Given the description of an element on the screen output the (x, y) to click on. 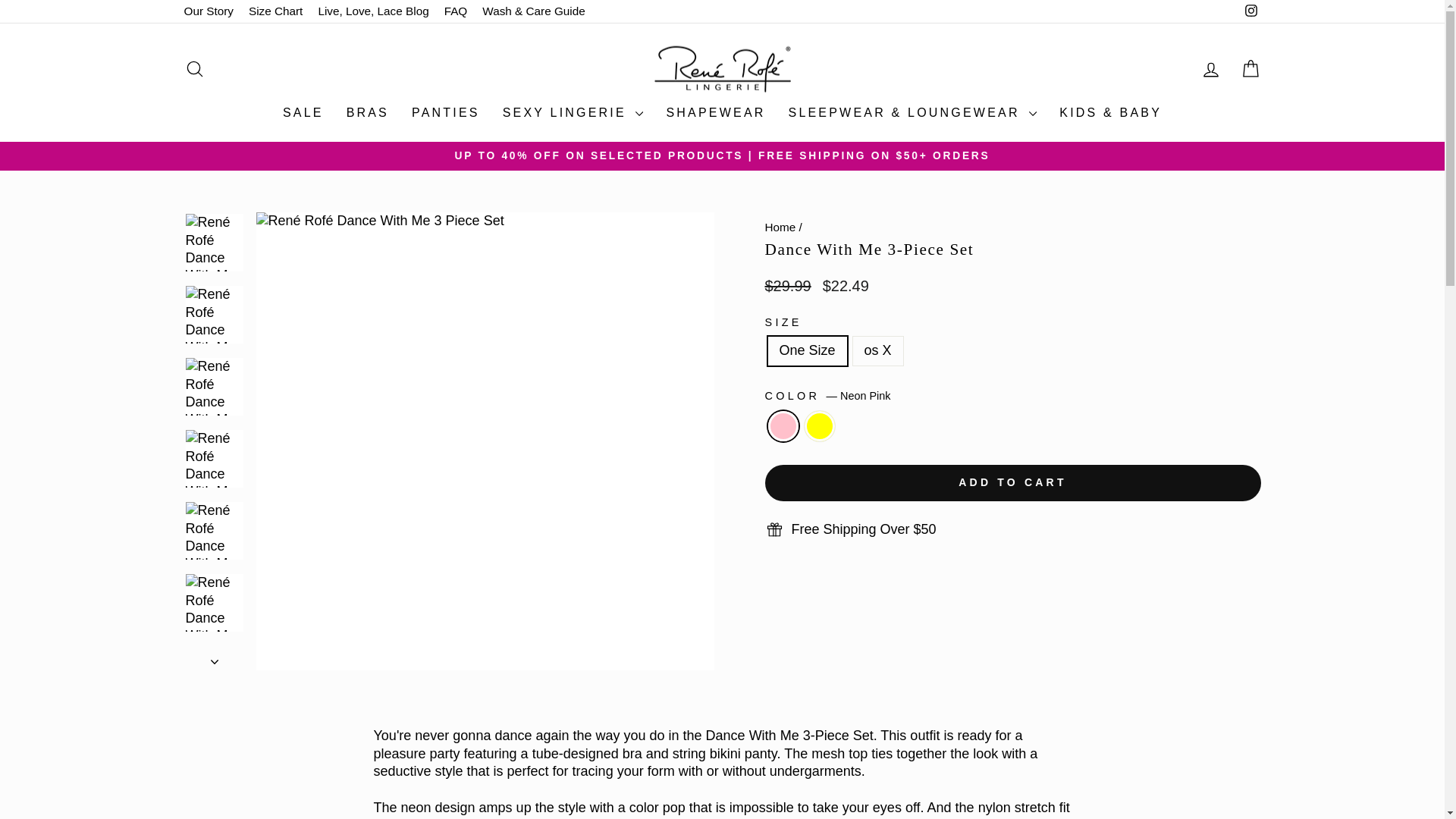
instagram (1250, 10)
ICON-SEARCH (194, 68)
Back to the frontpage (779, 226)
ACCOUNT (1210, 69)
